Given the description of an element on the screen output the (x, y) to click on. 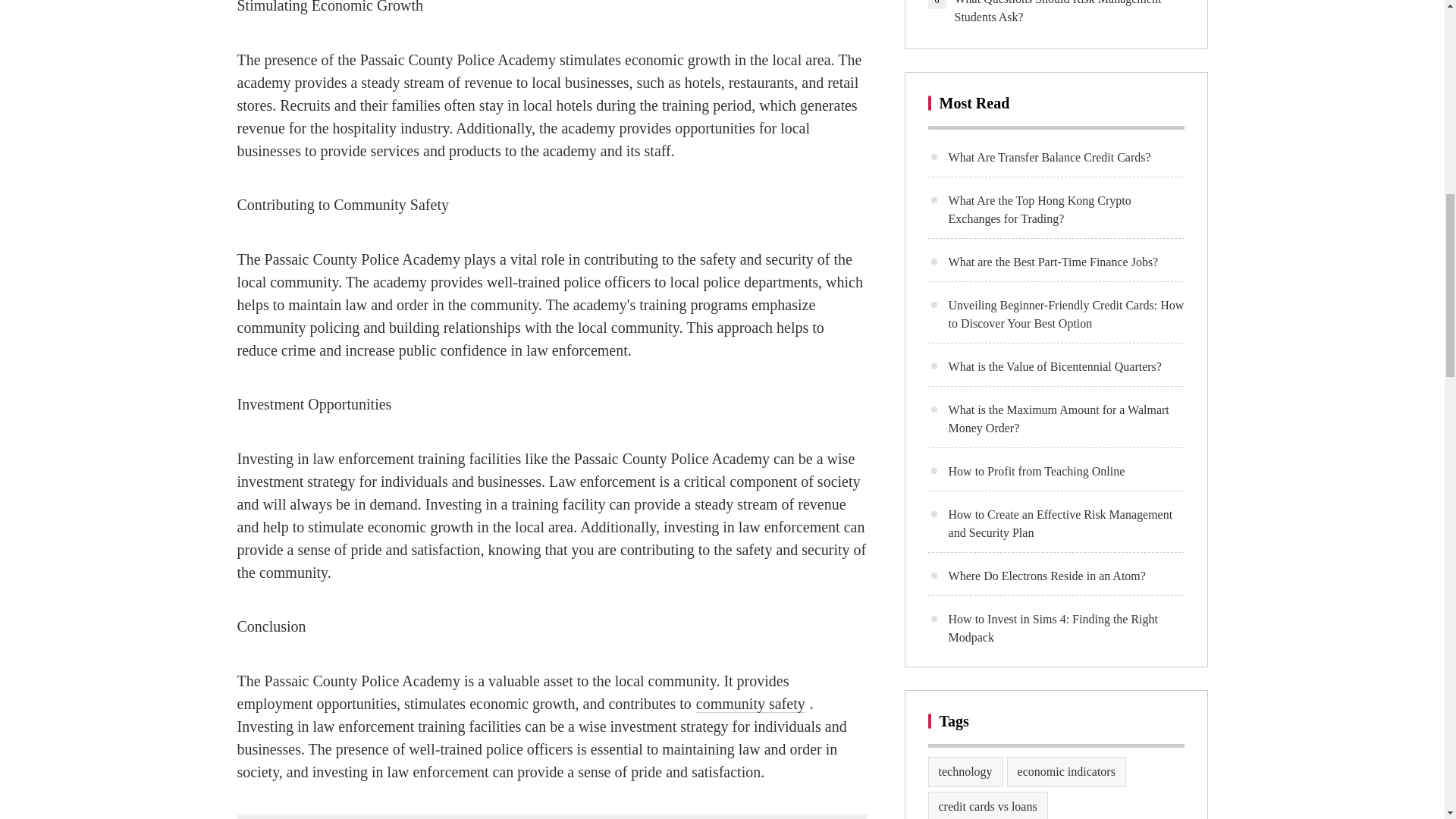
What Questions Should Risk Management Students Ask? (1068, 13)
community safety (750, 703)
community safety (750, 703)
